Given the description of an element on the screen output the (x, y) to click on. 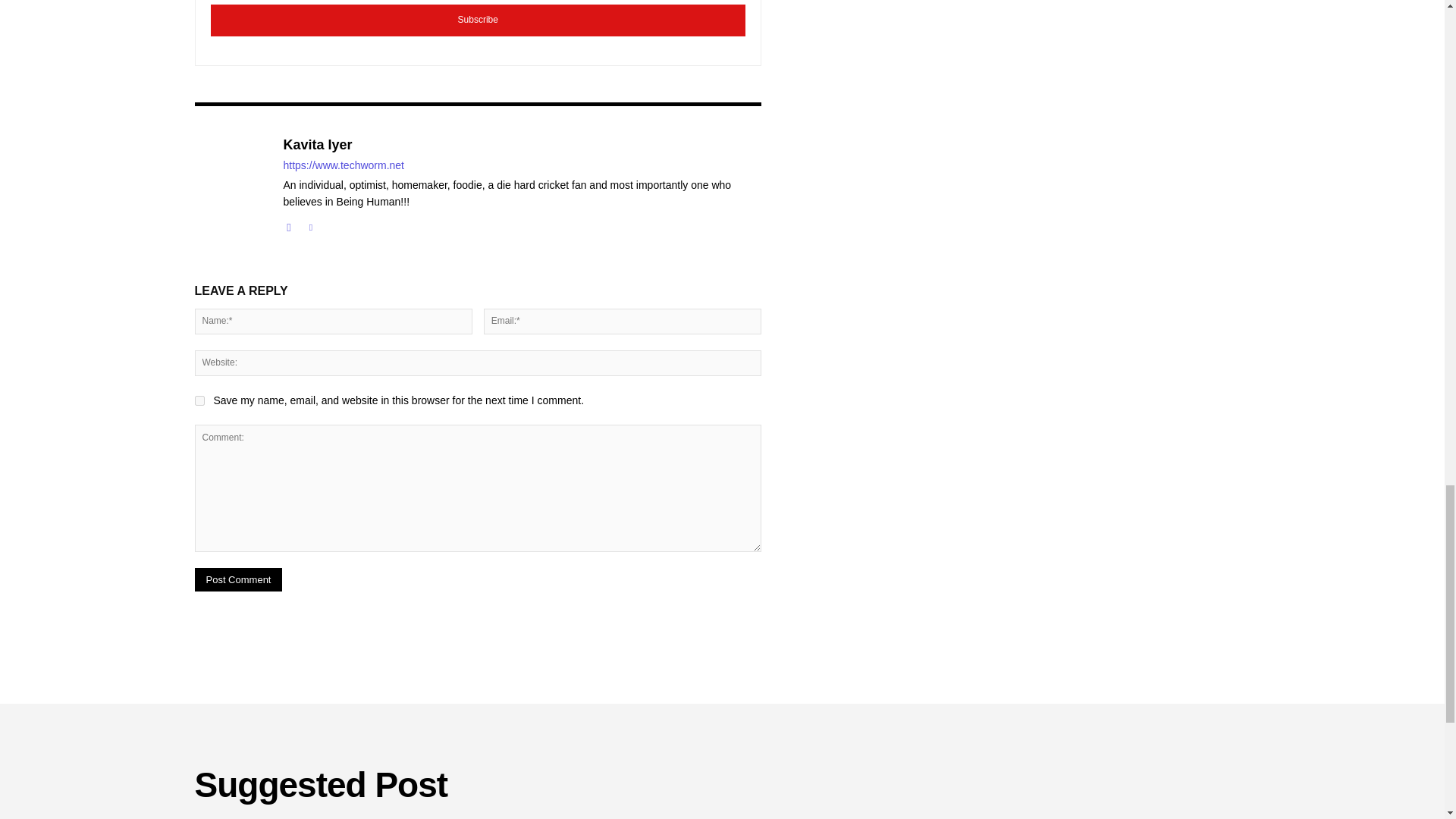
yes (198, 400)
Twitter (309, 224)
Post Comment (237, 579)
Post Comment (237, 579)
Subscribe (478, 20)
Facebook (289, 224)
Kavita Iyer (522, 145)
